Given the description of an element on the screen output the (x, y) to click on. 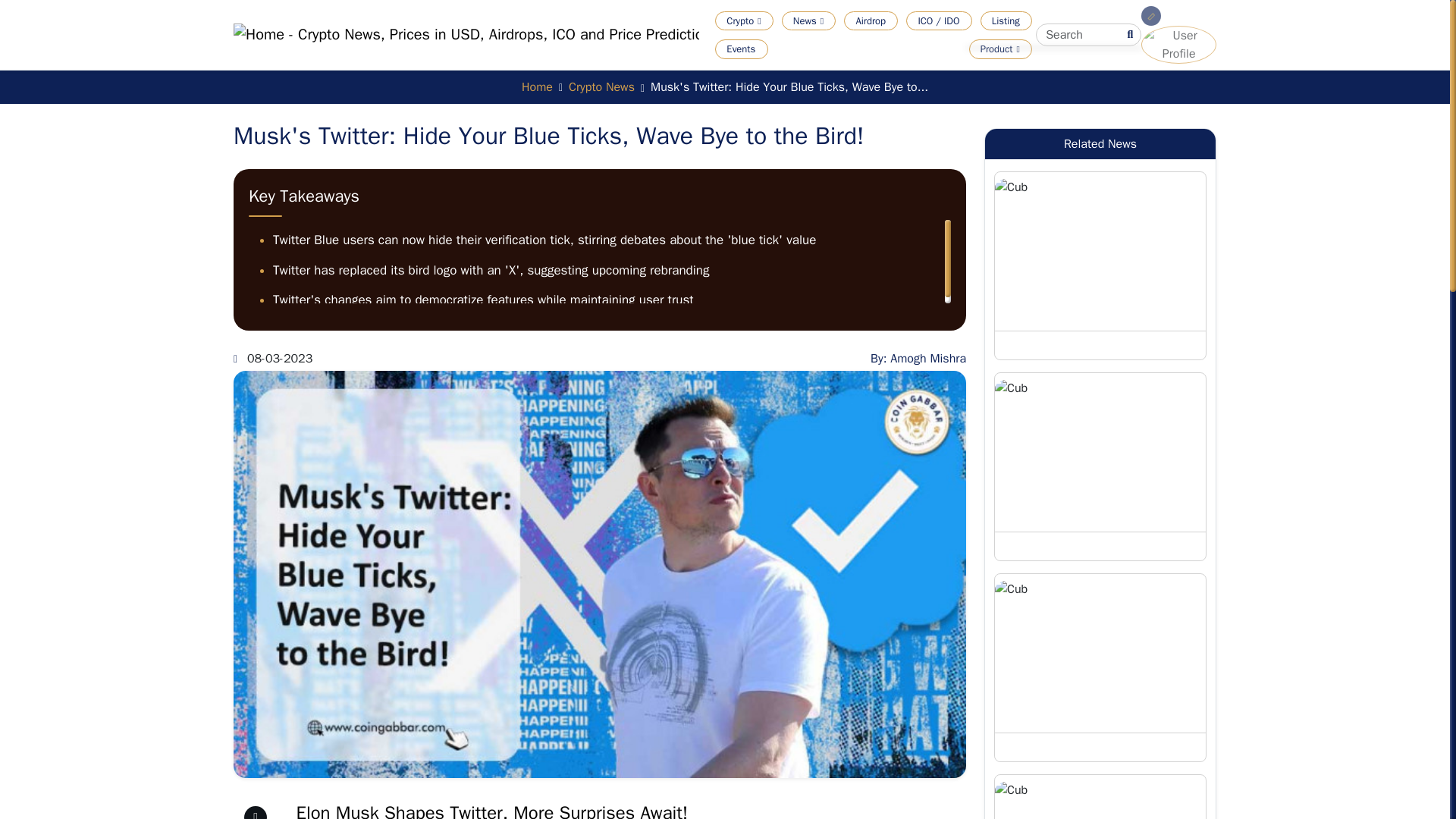
Cryptocurrency (781, 42)
Bitcoin (1062, 42)
All Blogs (954, 42)
Top Gainers (893, 42)
TOP CRYPTO CURRENCY GAINERS (893, 42)
Cryptocurrency (781, 42)
Crypto Currency News (837, 42)
All News (837, 42)
